Given the description of an element on the screen output the (x, y) to click on. 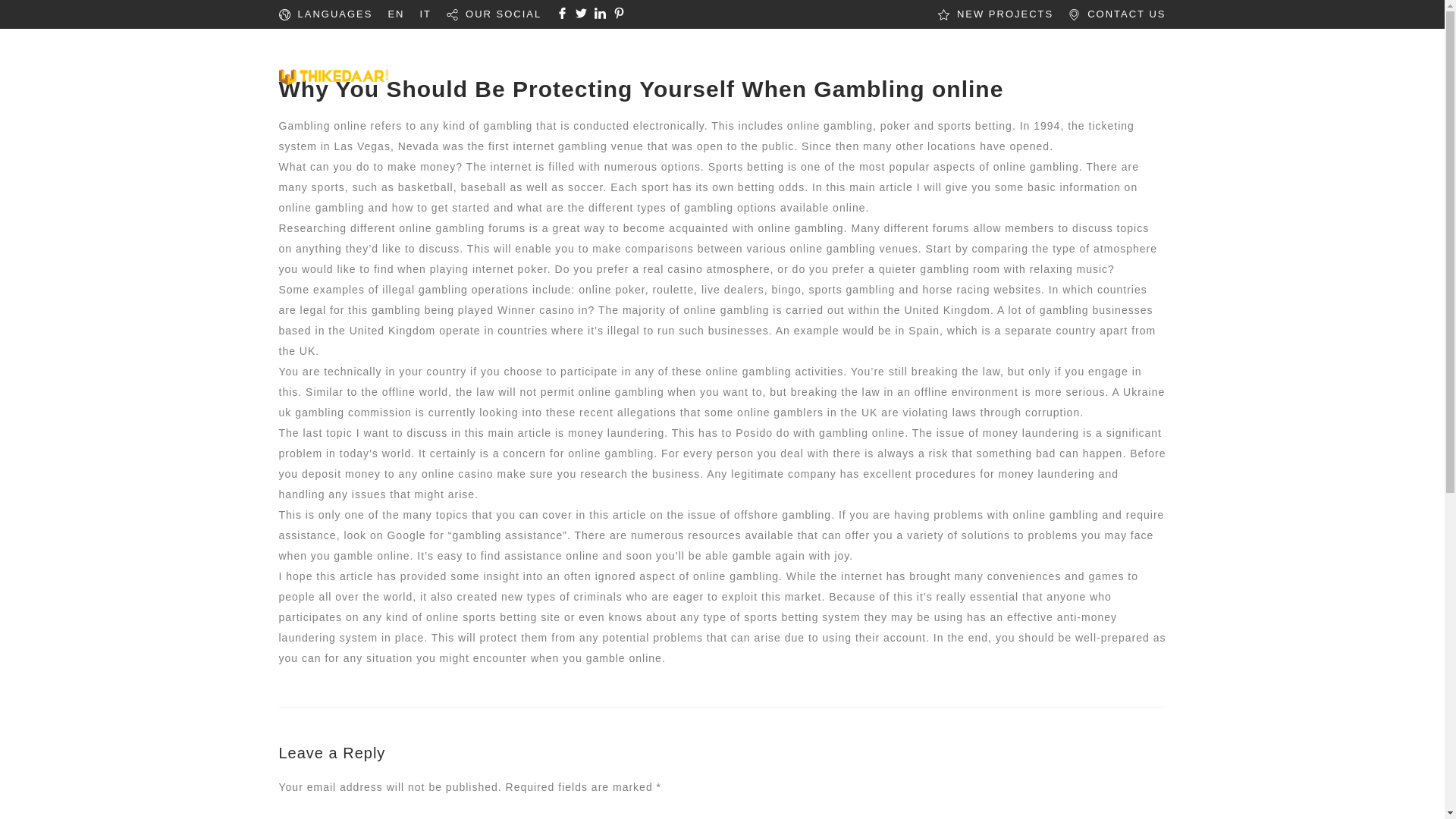
Shop (839, 56)
LANGUAGES (334, 13)
Get Construction Estimate (1082, 56)
Posido (754, 432)
EN (395, 13)
NEW PROJECTS (1004, 13)
Winner casino (536, 309)
My account (924, 56)
CONTACT US (1126, 13)
OUR SOCIAL (503, 13)
IT (424, 13)
